Given the description of an element on the screen output the (x, y) to click on. 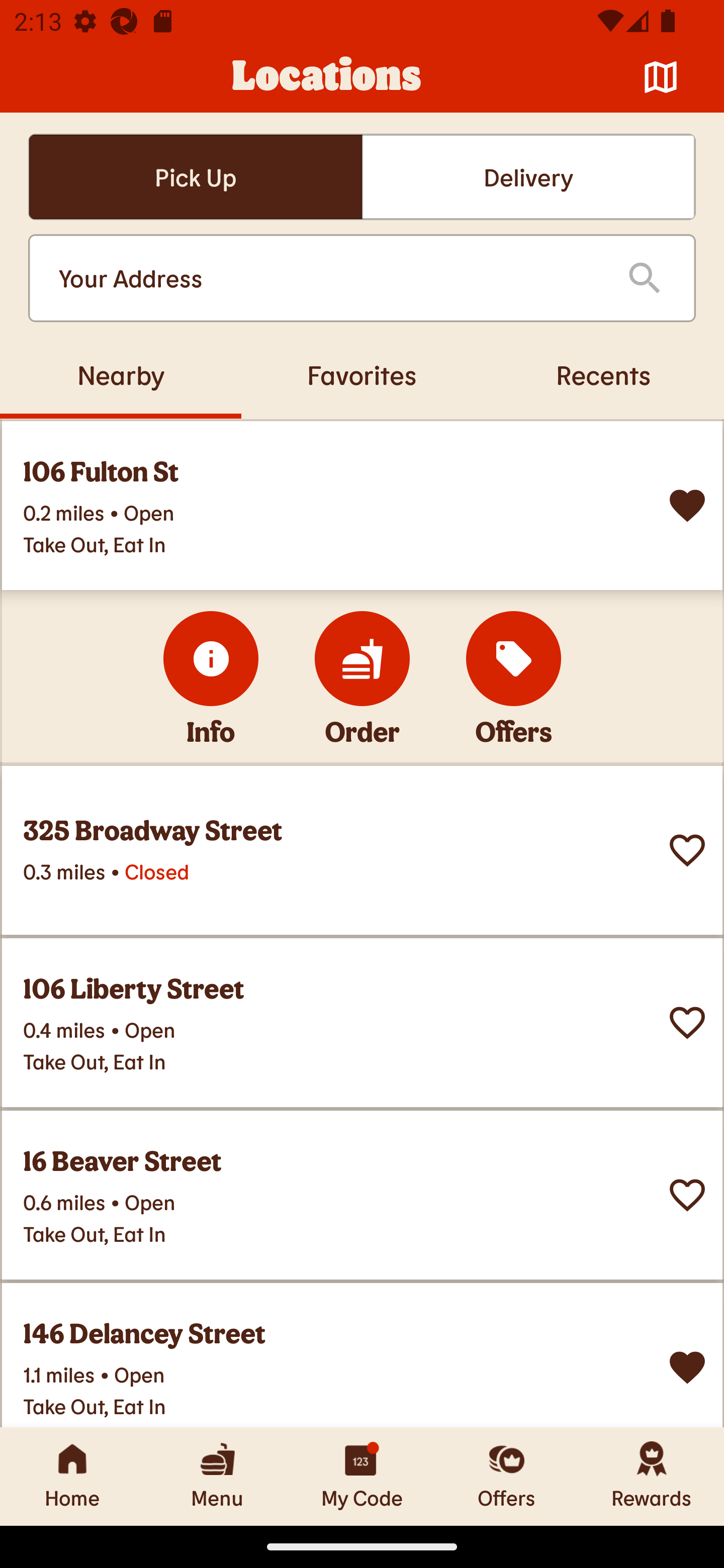
Map 󰦂 (660, 77)
Locations (326, 77)
Pick UpSelected Pick UpSelected Pick Up (195, 176)
Delivery Delivery Delivery (528, 176)
Your Address (327, 277)
Nearby (120, 374)
Favorites (361, 374)
Recents (603, 374)
Remove from Favorites?  (687, 505)
Info  (210, 658)
Order (361, 658)
Offers  (513, 658)
Set this restaurant as a favorite  (687, 850)
Set this restaurant as a favorite  (687, 1022)
Set this restaurant as a favorite  (687, 1195)
Remove from Favorites?  (687, 1367)
Home (72, 1475)
Menu (216, 1475)
My Code (361, 1475)
Offers (506, 1475)
Rewards (651, 1475)
